Given the description of an element on the screen output the (x, y) to click on. 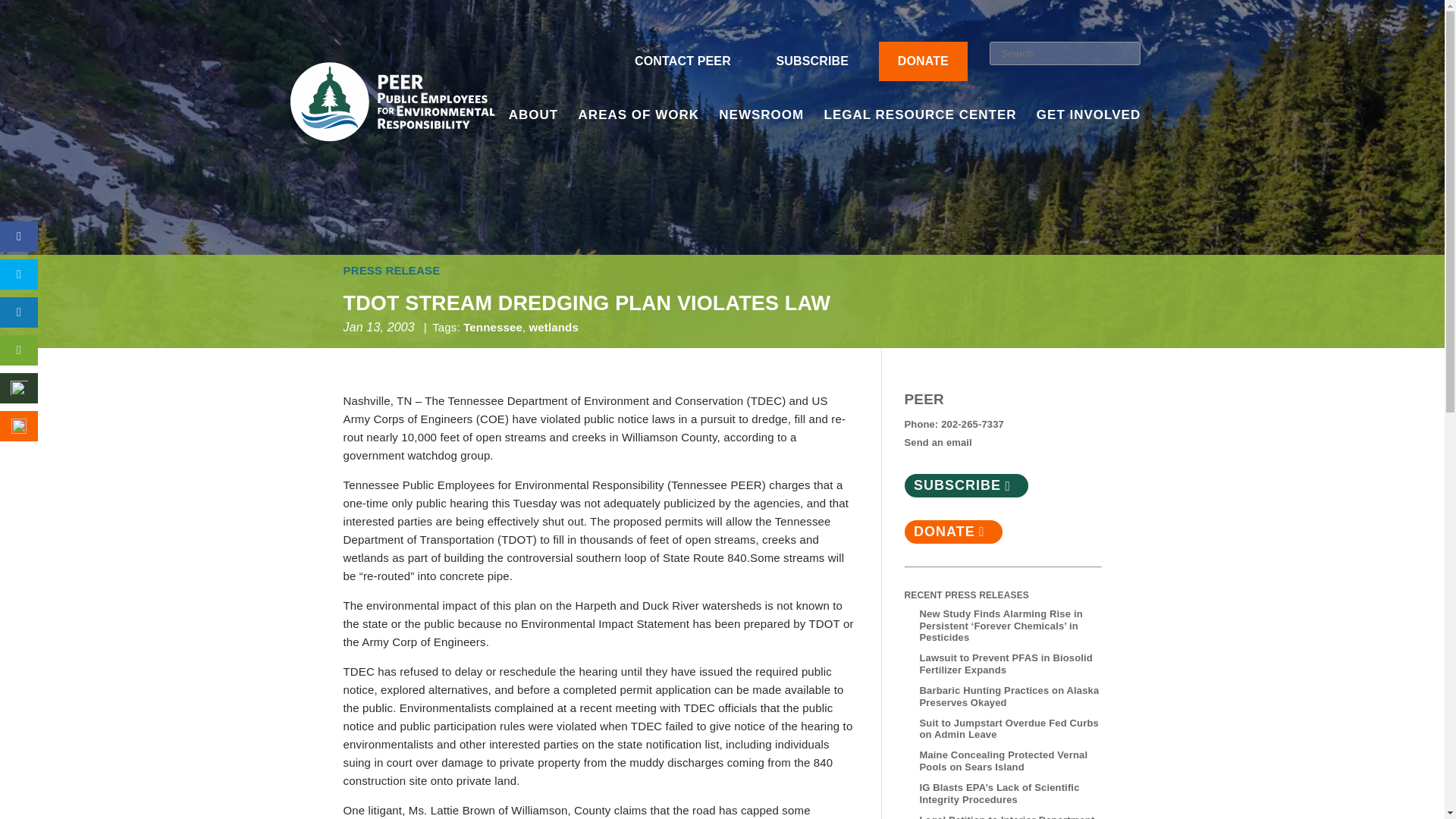
DONATE (922, 60)
CONTACT PEER (682, 60)
AREAS OF WORK (638, 135)
ABOUT (532, 135)
SUBSCRIBE (811, 60)
